Given the description of an element on the screen output the (x, y) to click on. 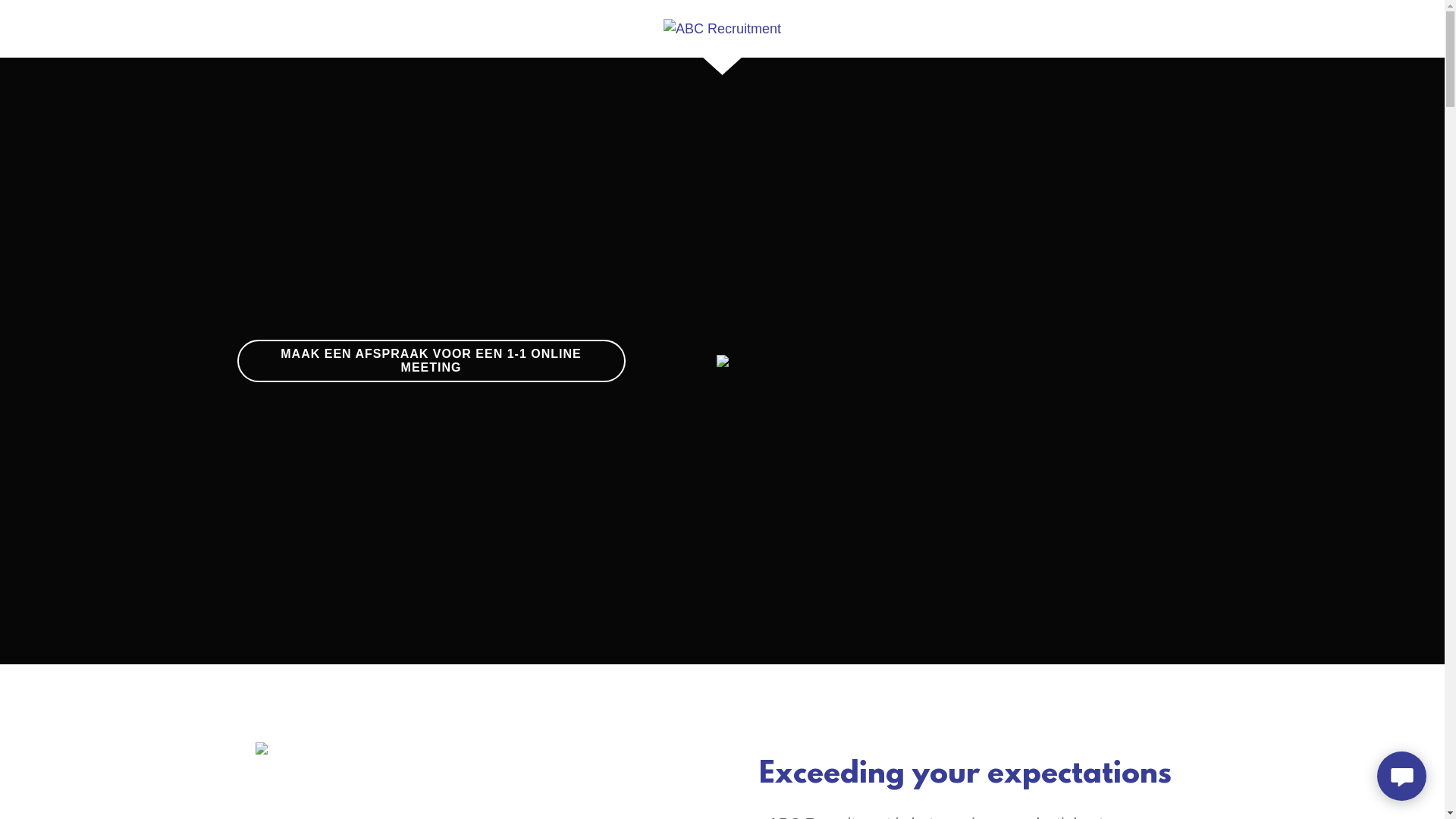
ABC Recruitment Element type: hover (722, 27)
MAAK EEN AFSPRAAK VOOR EEN 1-1 ONLINE MEETING Element type: text (430, 360)
